Given the description of an element on the screen output the (x, y) to click on. 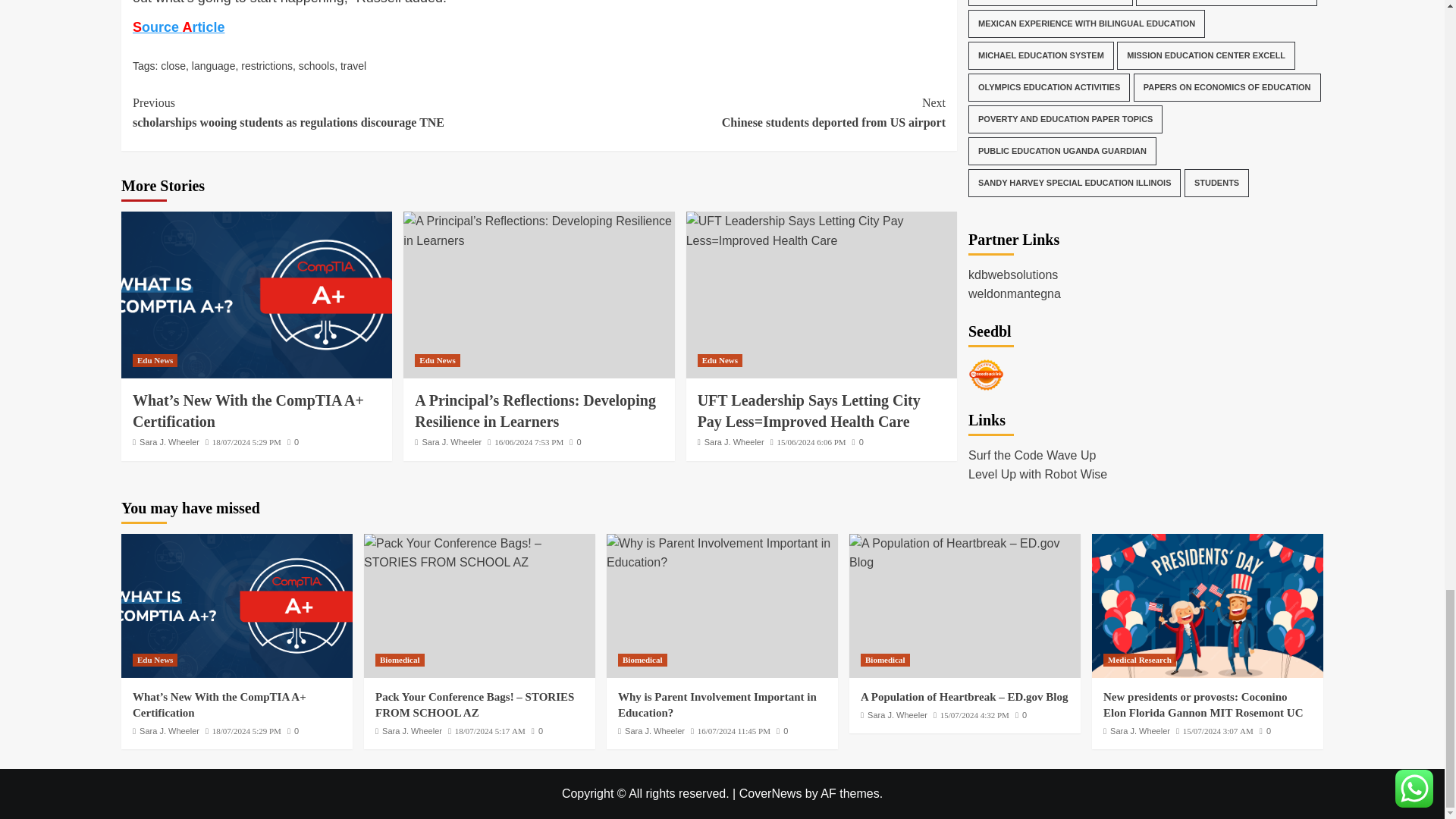
Why is Parent Involvement Important in Education? (722, 552)
schools (316, 65)
Sara J. Wheeler (169, 441)
Seedbacklink (986, 97)
language (213, 65)
travel (353, 65)
close (173, 65)
Edu News (154, 359)
restrictions (266, 65)
Source Article (178, 27)
